Given the description of an element on the screen output the (x, y) to click on. 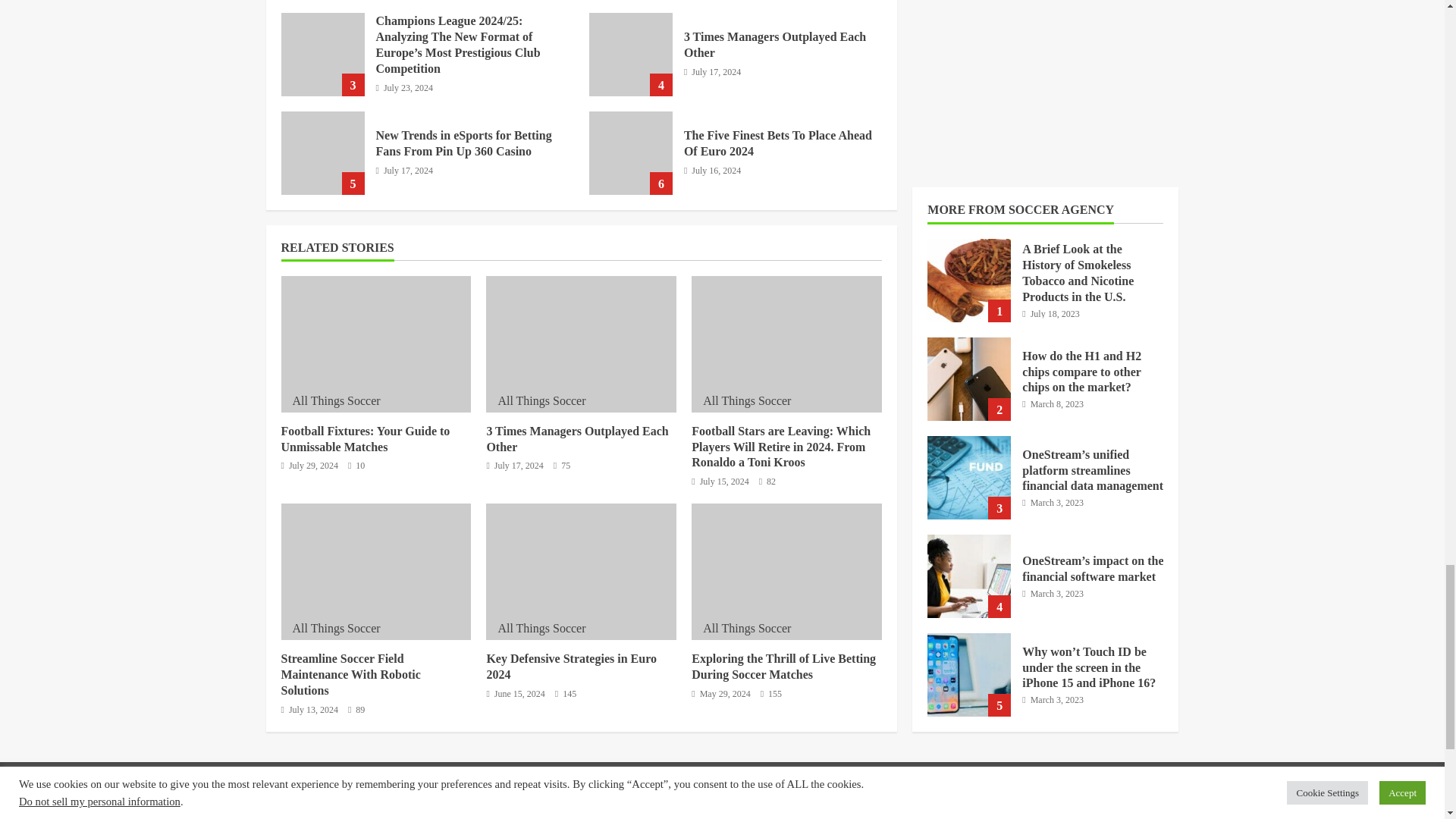
The Five Finest Bets To Place Ahead Of Euro 2024 (778, 143)
The Five Finest Bets To Place Ahead Of Euro 2024 (630, 152)
3 Times Managers Outplayed Each Other (630, 54)
Football Fixtures: Your Guide to Unmissable Matches (375, 344)
10 (356, 465)
All Things Soccer (336, 400)
Football Fixtures: Your Guide to Unmissable Matches (365, 439)
3 Times Managers Outplayed Each Other (775, 44)
